Given the description of an element on the screen output the (x, y) to click on. 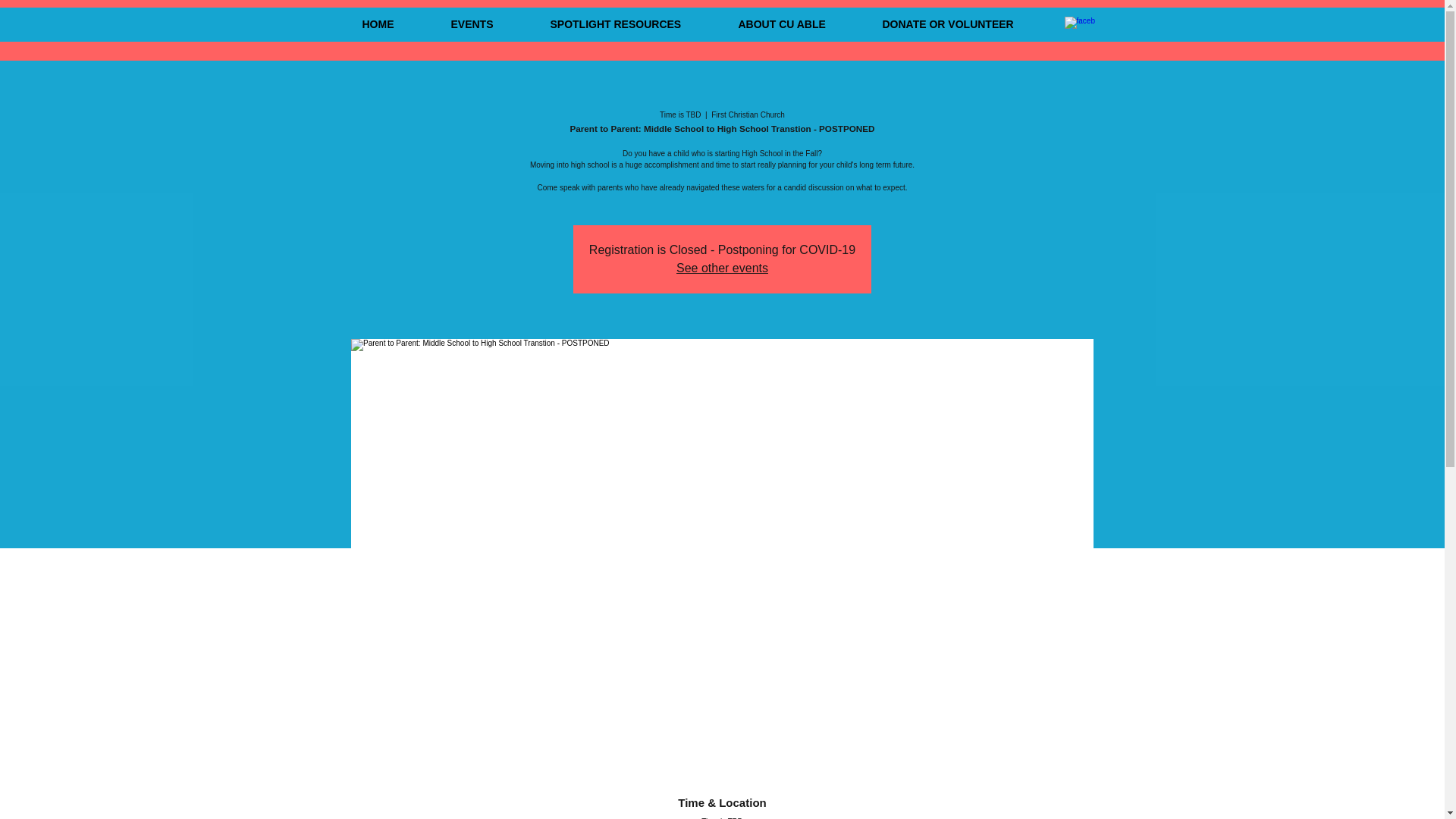
SPOTLIGHT RESOURCES (632, 24)
EVENTS (487, 24)
DONATE OR VOLUNTEER (964, 24)
HOME (394, 24)
See other events (722, 267)
